Given the description of an element on the screen output the (x, y) to click on. 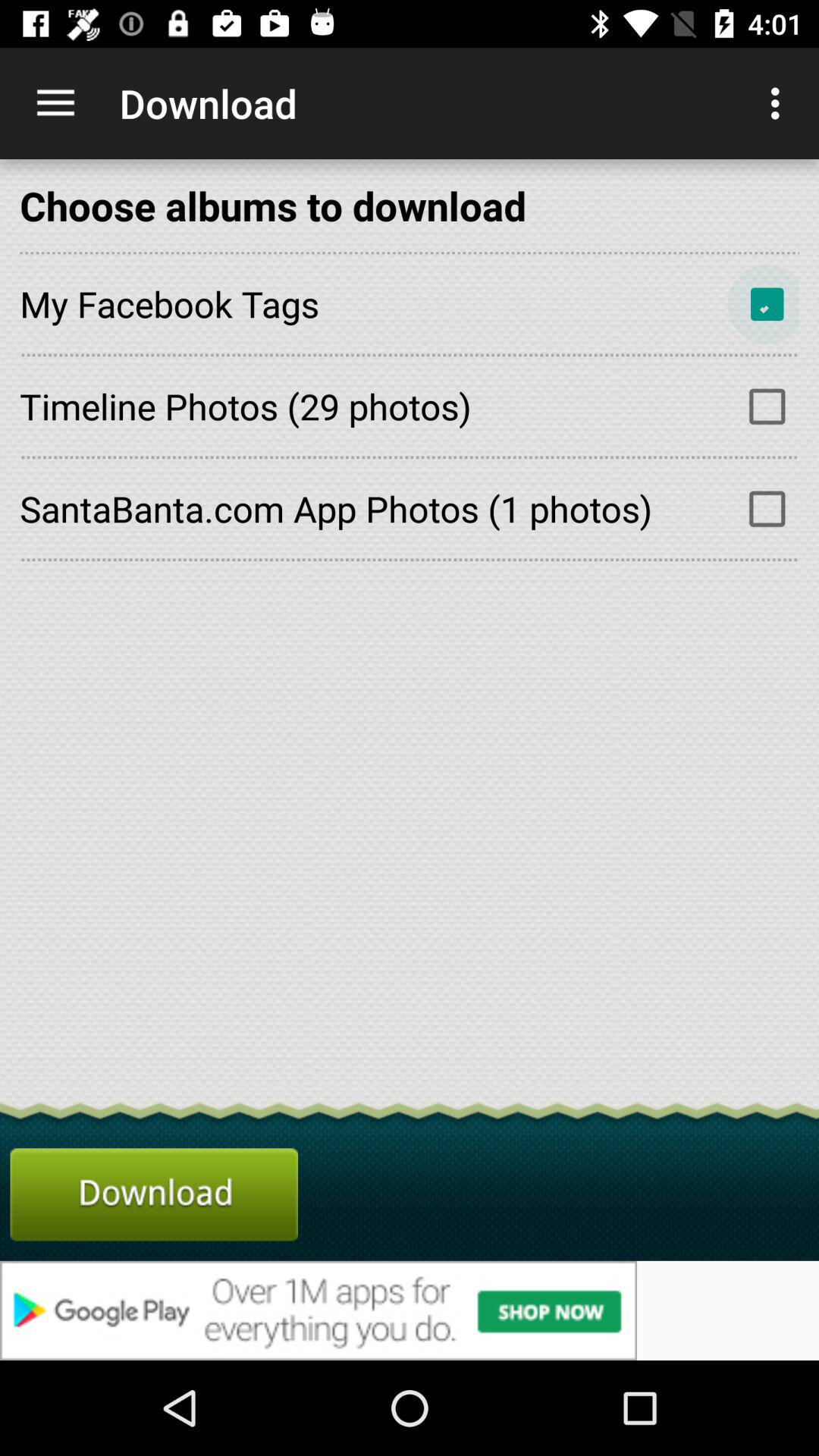
download (154, 1194)
